Given the description of an element on the screen output the (x, y) to click on. 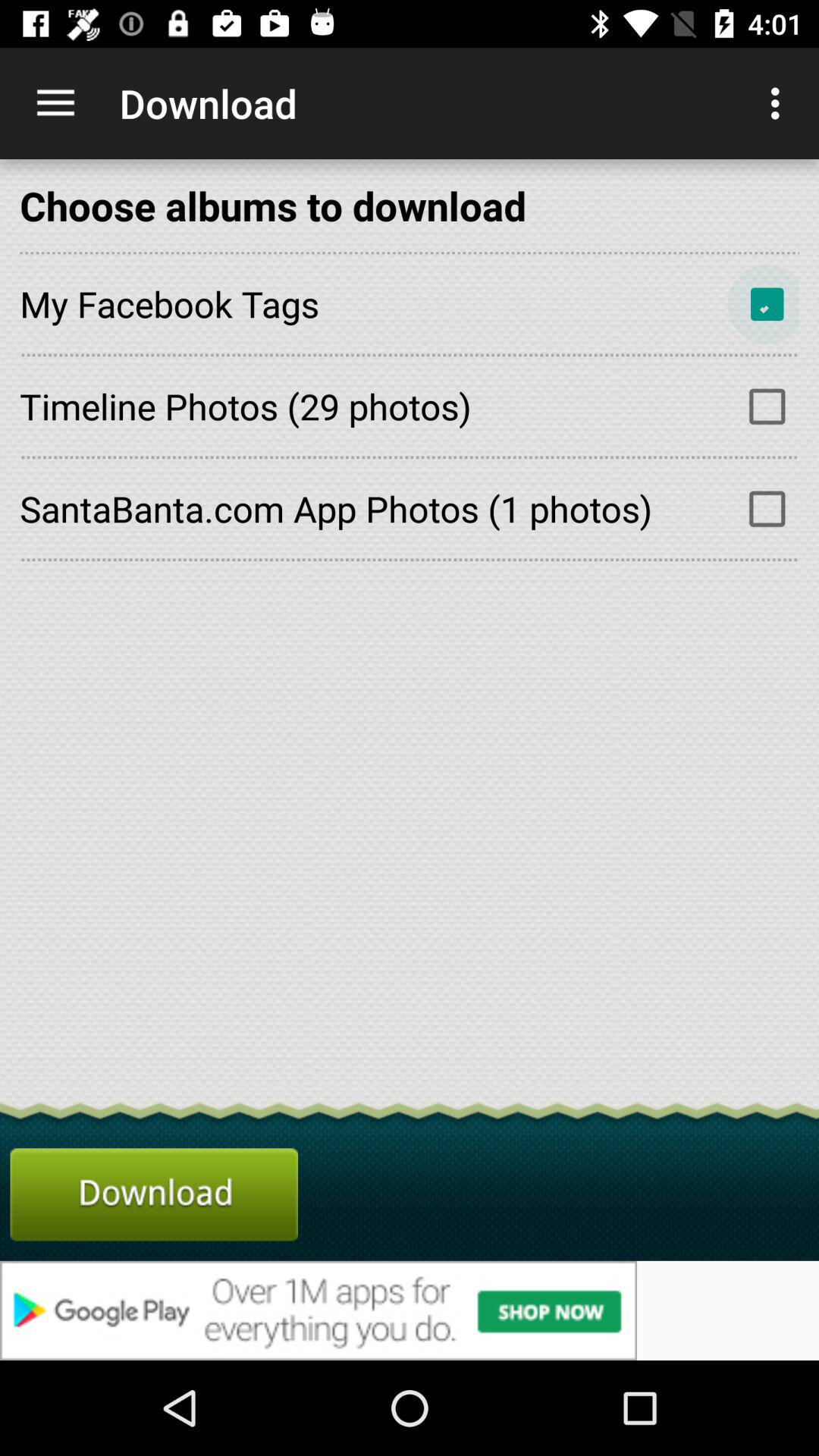
download (154, 1194)
